Given the description of an element on the screen output the (x, y) to click on. 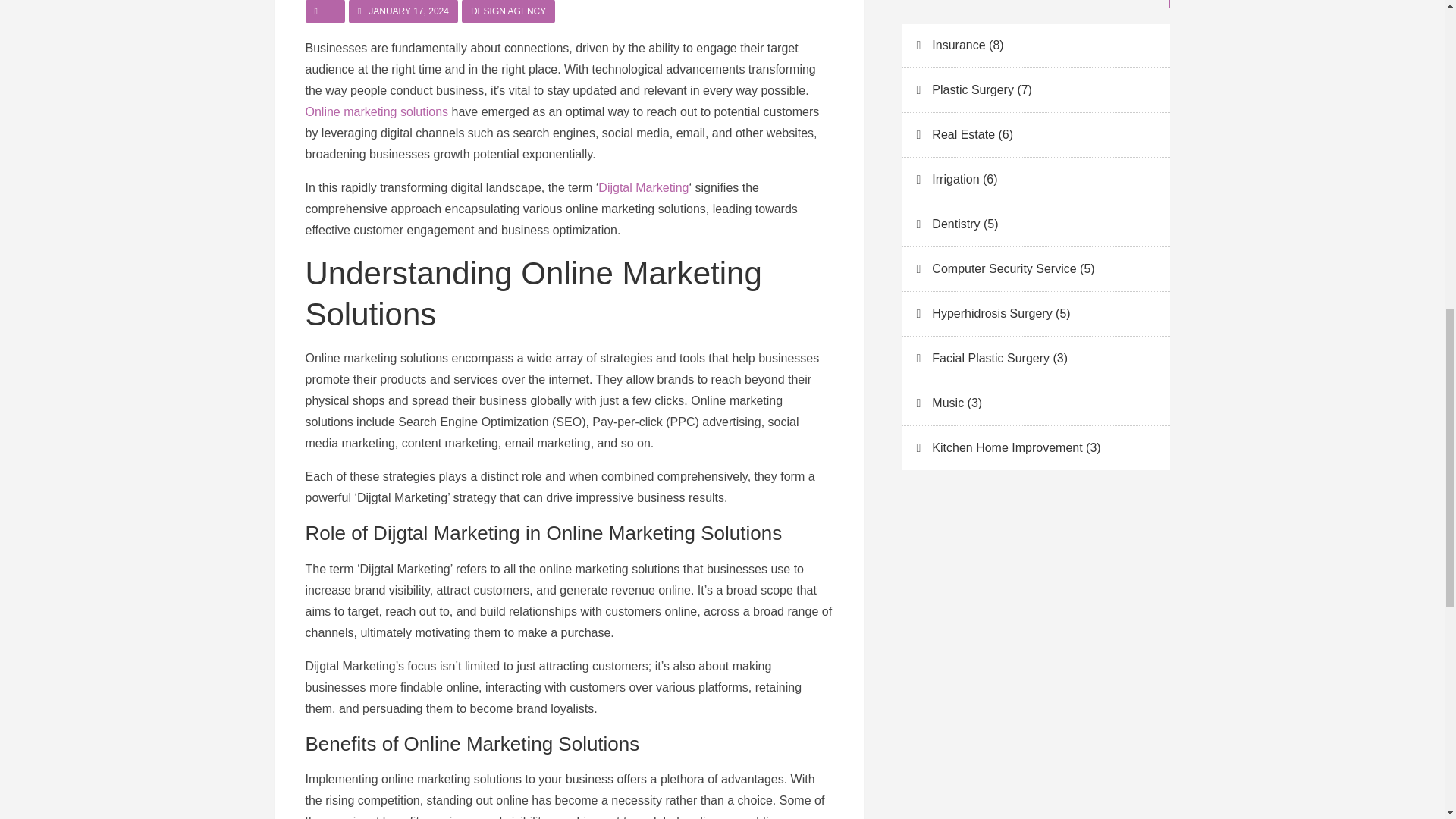
JANUARY 17, 2024 (403, 11)
Online marketing solutions (376, 111)
DESIGN AGENCY (507, 11)
Dijgtal Marketing (643, 187)
